Given the description of an element on the screen output the (x, y) to click on. 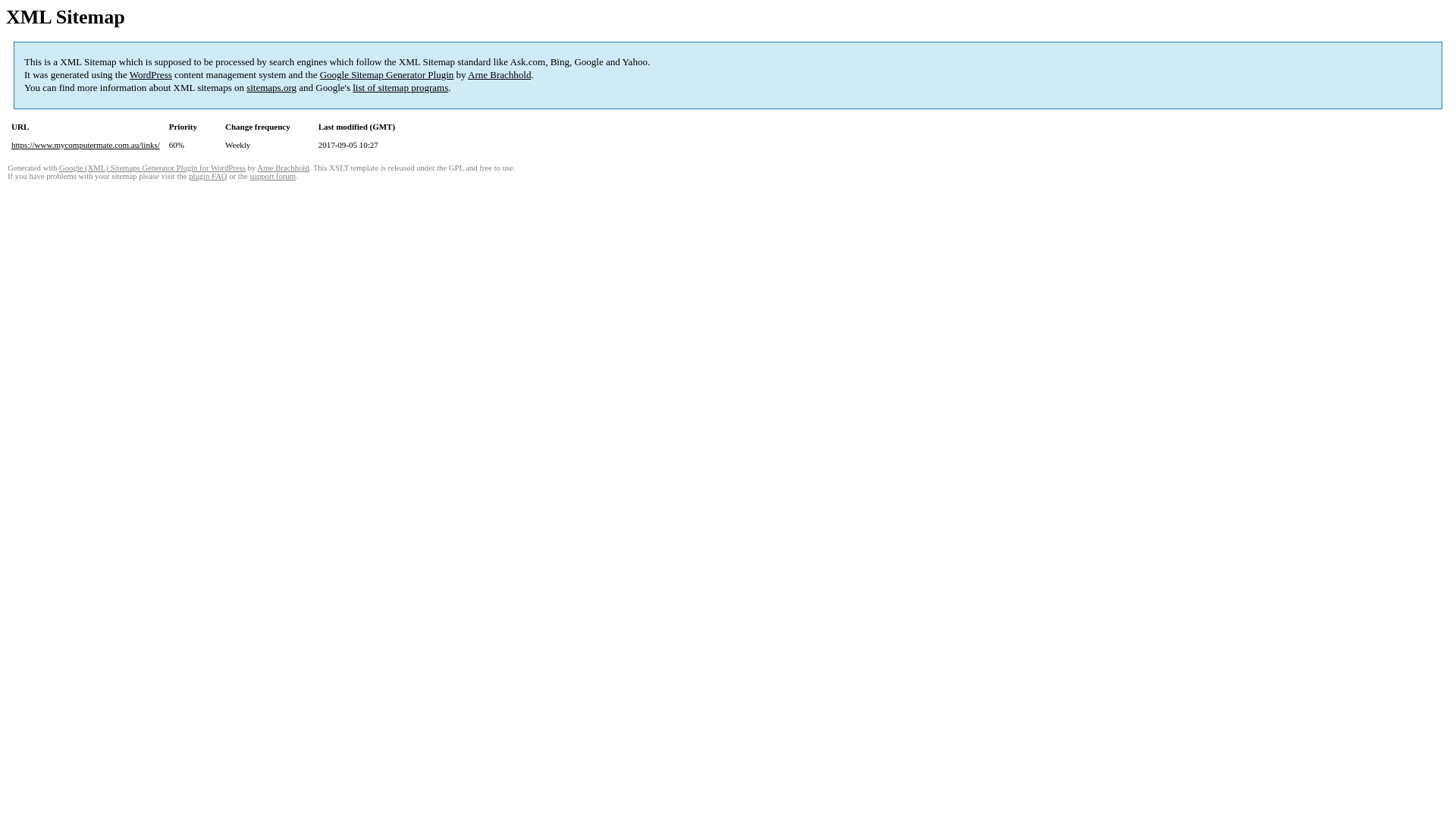
support forum Element type: text (272, 176)
https://www.mycomputermate.com.au/links/ Element type: text (85, 144)
Arne Brachhold Element type: text (282, 167)
Google (XML) Sitemaps Generator Plugin for WordPress Element type: text (152, 167)
Google Sitemap Generator Plugin Element type: text (387, 74)
Arne Brachhold Element type: text (498, 74)
sitemaps.org Element type: text (271, 87)
list of sitemap programs Element type: text (400, 87)
WordPress Element type: text (150, 74)
plugin FAQ Element type: text (207, 176)
